Given the description of an element on the screen output the (x, y) to click on. 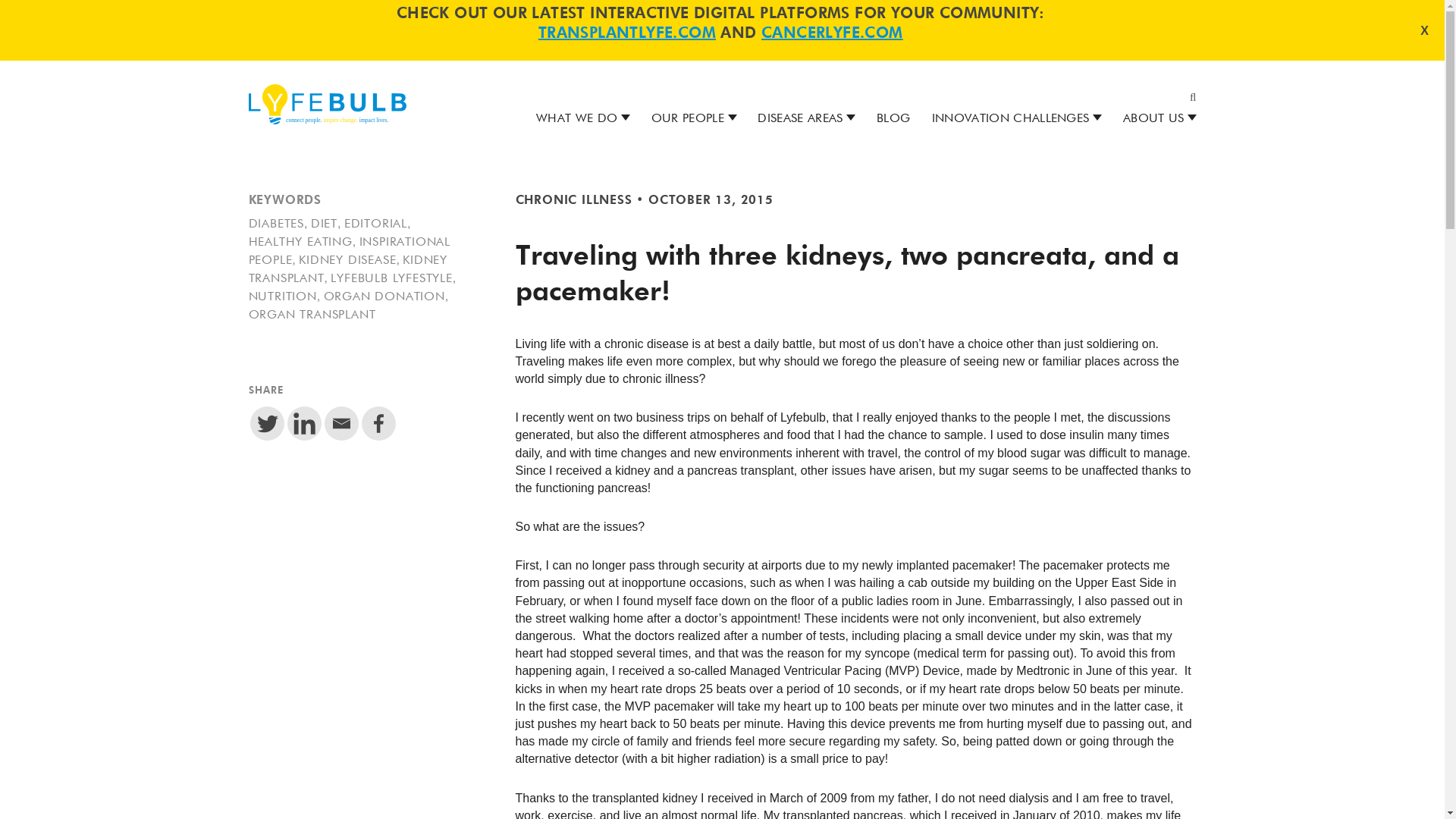
BLOG (893, 119)
CANCERLYFE.COM (831, 32)
WHAT WE DO (576, 119)
Email (341, 423)
ABOUT US (1153, 119)
INNOVATION CHALLENGES (1010, 119)
TRANSPLANTLYFE.COM (627, 32)
Linkedin (303, 423)
Twitter (266, 423)
Facebook (377, 423)
